Given the description of an element on the screen output the (x, y) to click on. 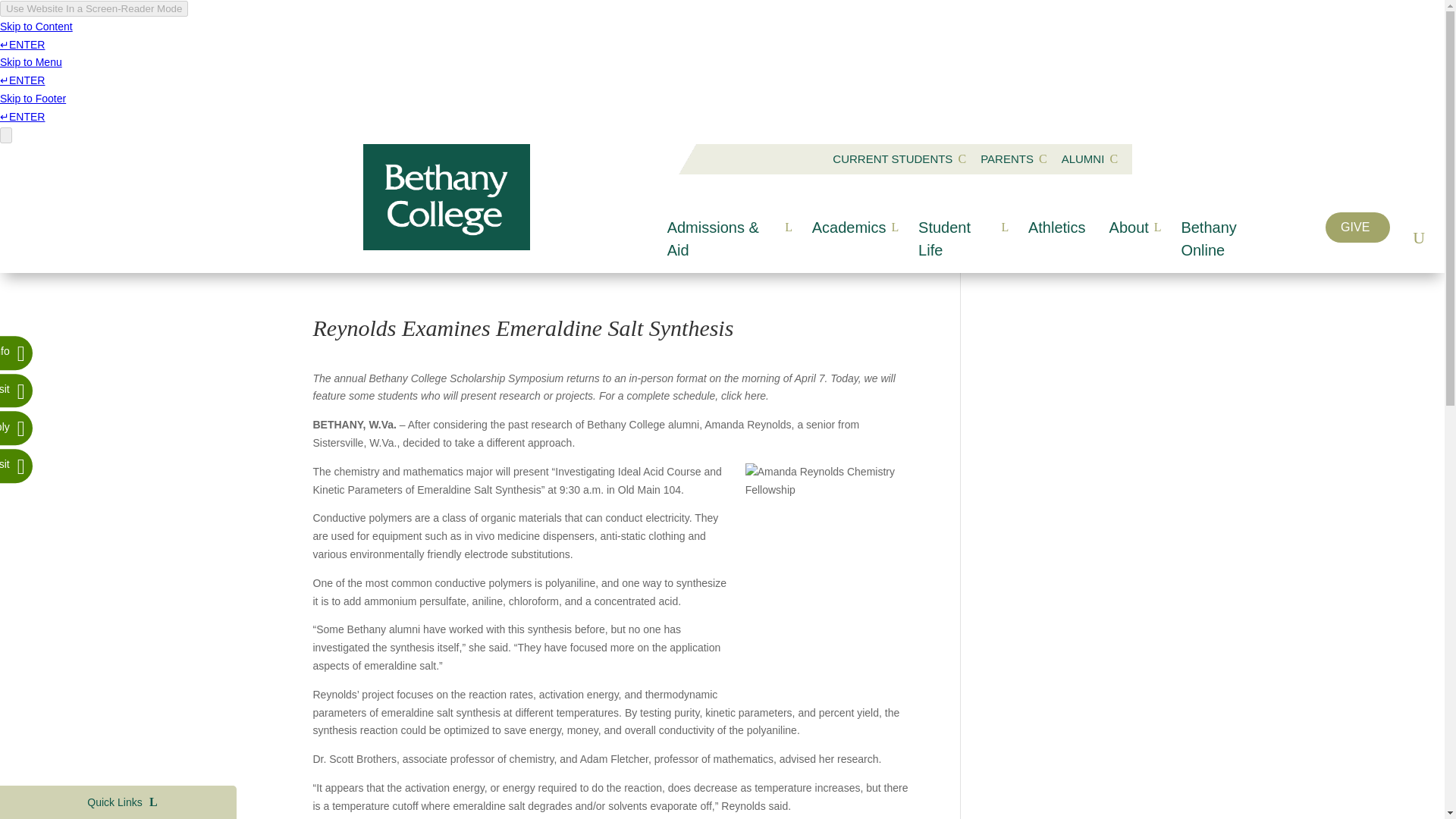
Final Logo (1012, 159)
